Given the description of an element on the screen output the (x, y) to click on. 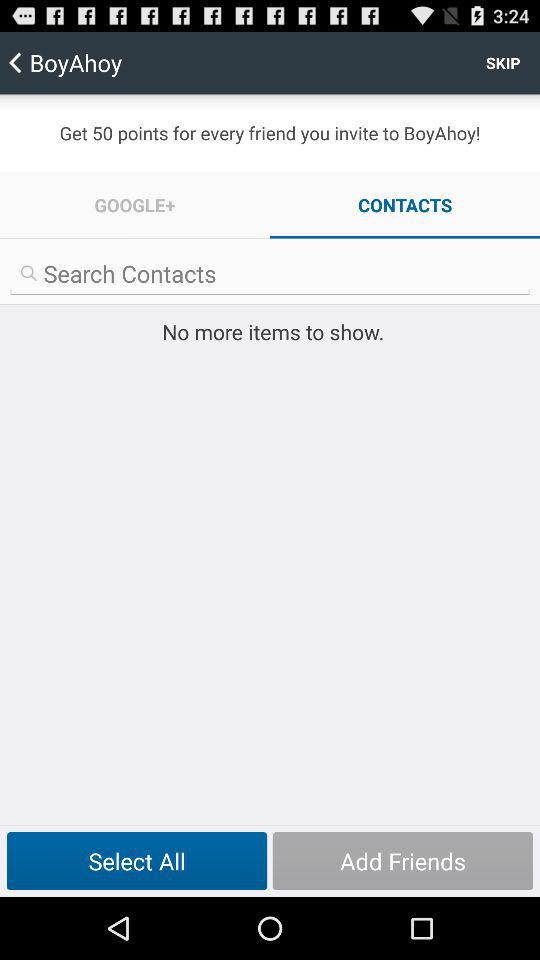
tap select all (136, 861)
